Given the description of an element on the screen output the (x, y) to click on. 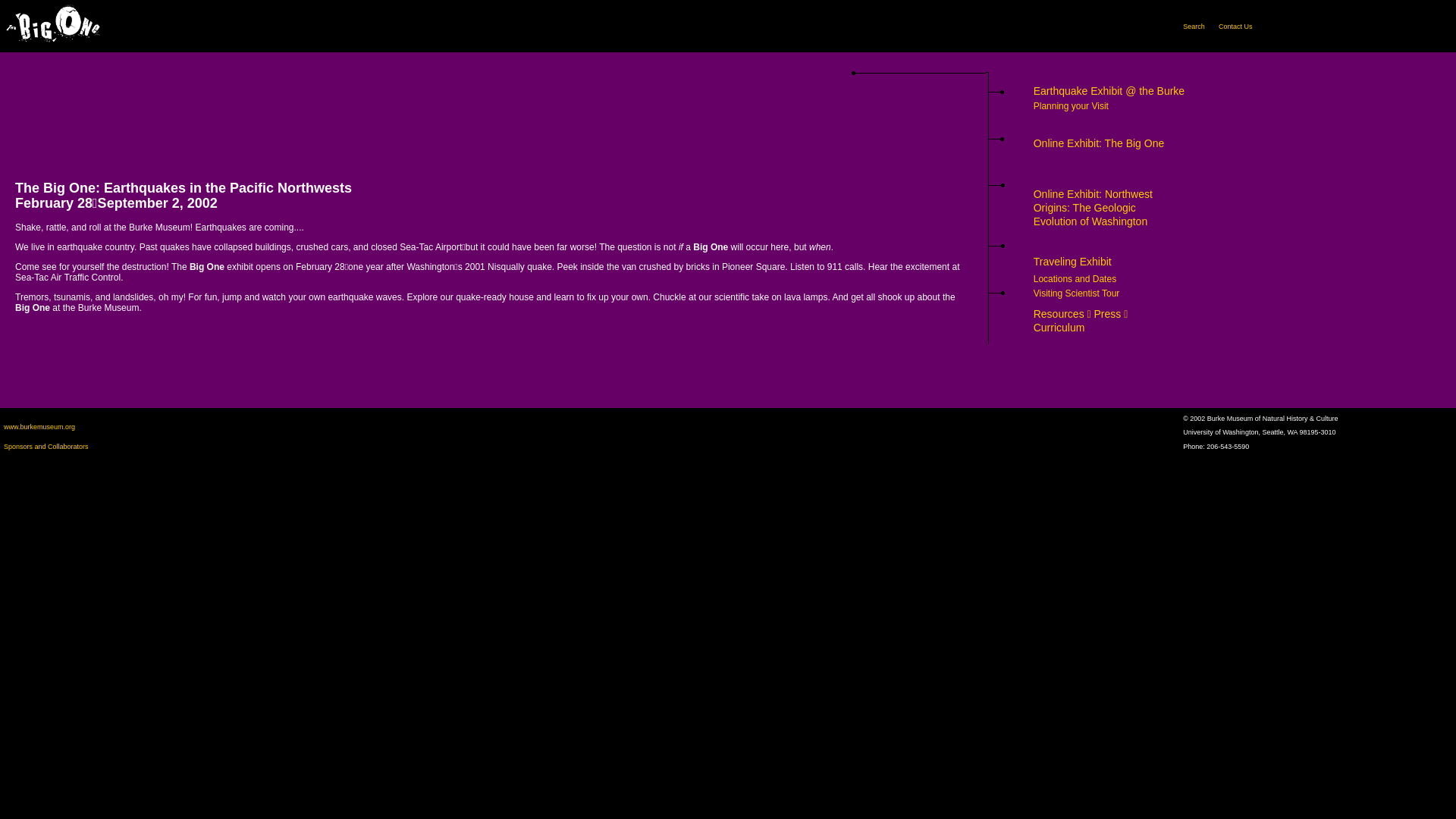
Contact Us (1235, 26)
Visiting Scientist Tour (1076, 293)
Curriculum (1058, 327)
Traveling Exhibit (1072, 261)
Search (1193, 25)
Locations and Dates (1074, 278)
Online Exhibit: The Big One (1098, 143)
www.burkemuseum.org (39, 425)
Press (1109, 313)
Sponsors and Collaborators (46, 446)
Planning your Visit (1070, 105)
